Given the description of an element on the screen output the (x, y) to click on. 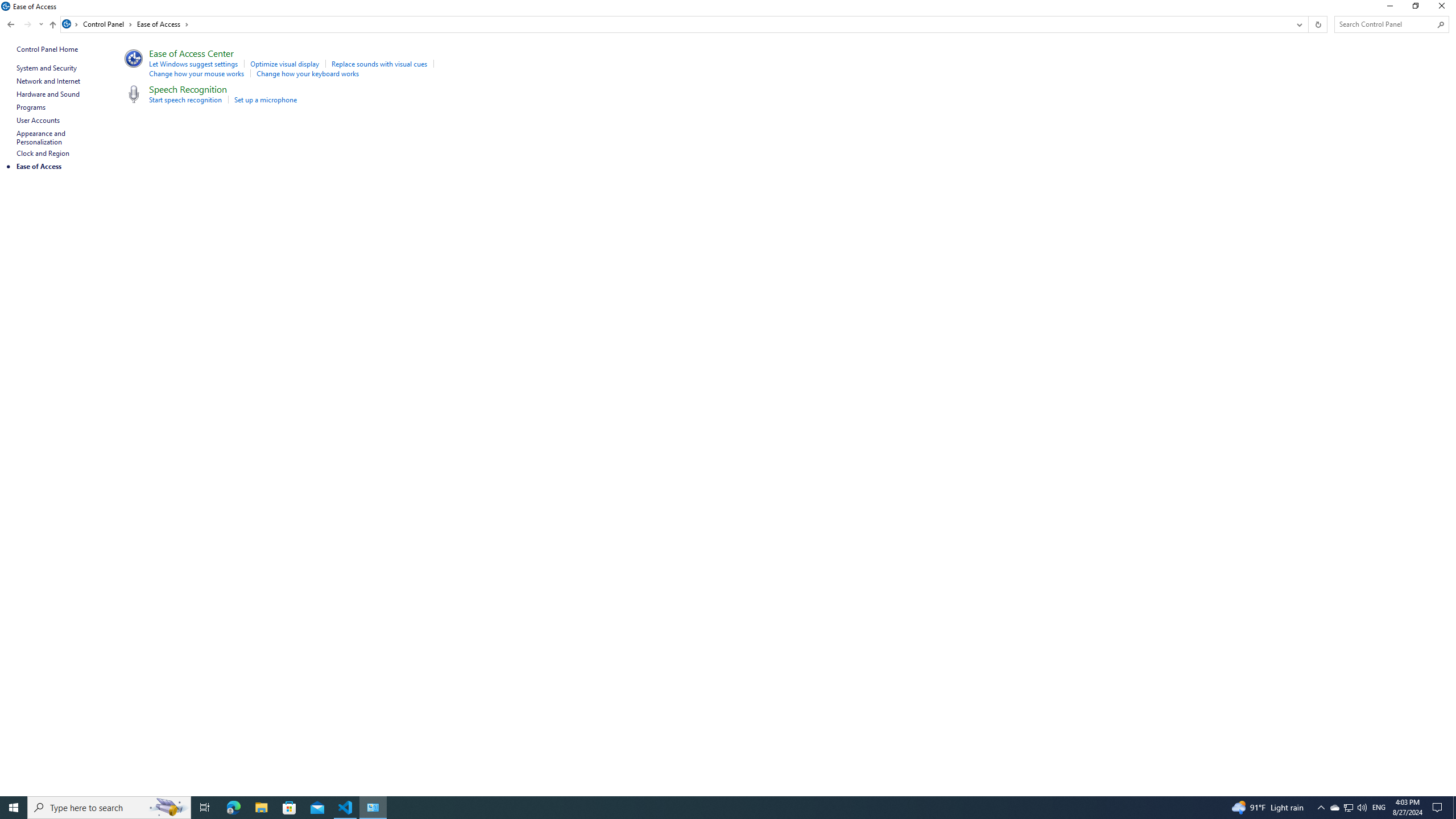
System and Security (47, 67)
Forward (Alt + Right Arrow) (27, 23)
Search Box (1386, 23)
Up band toolbar (52, 26)
Restore (1415, 8)
Change how your mouse works (196, 73)
Refresh "Ease of Access" (F5) (1316, 23)
All locations (70, 23)
Programs (31, 107)
Clock and Region (42, 153)
